Given the description of an element on the screen output the (x, y) to click on. 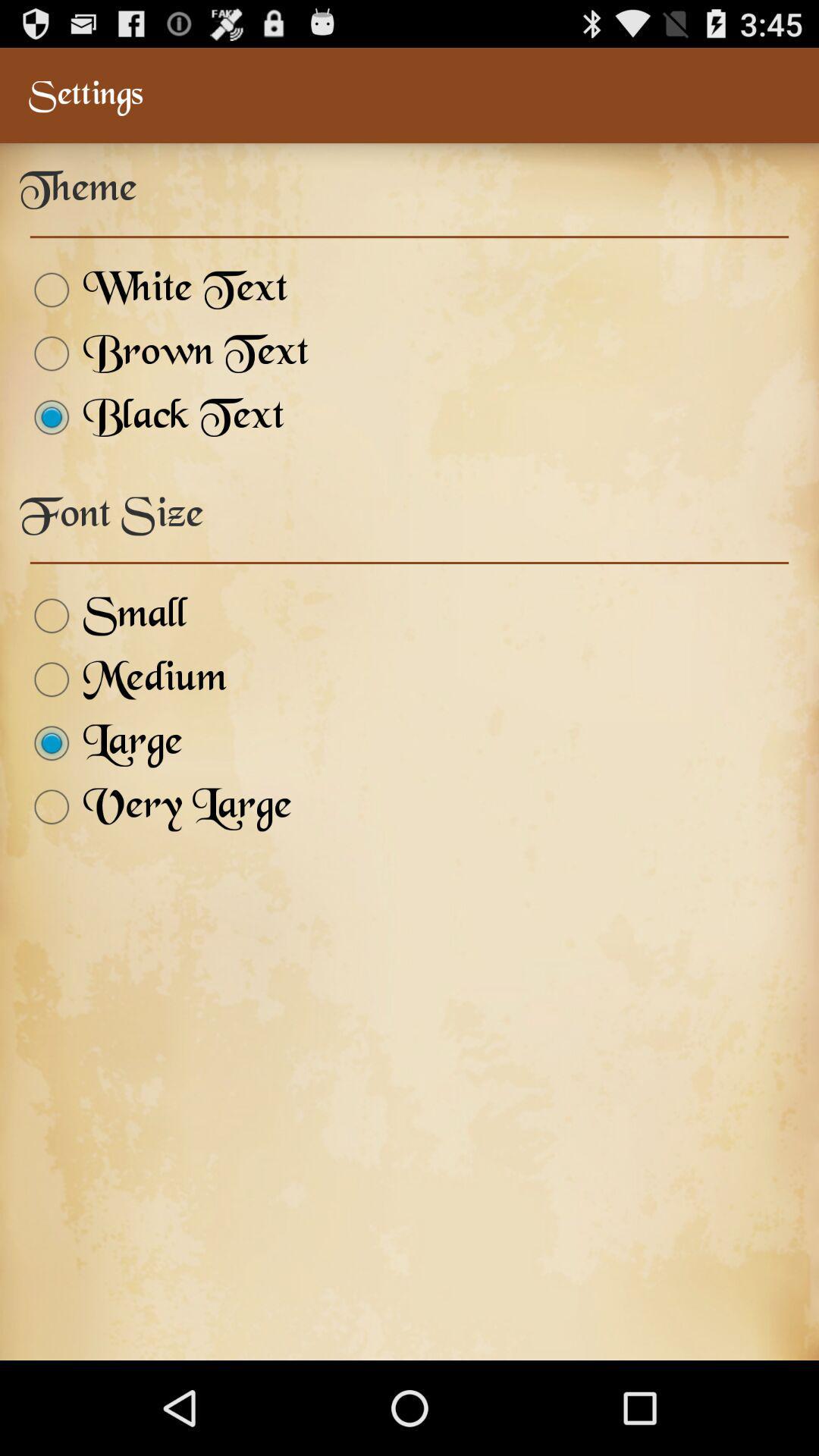
turn on the black text (151, 417)
